Given the description of an element on the screen output the (x, y) to click on. 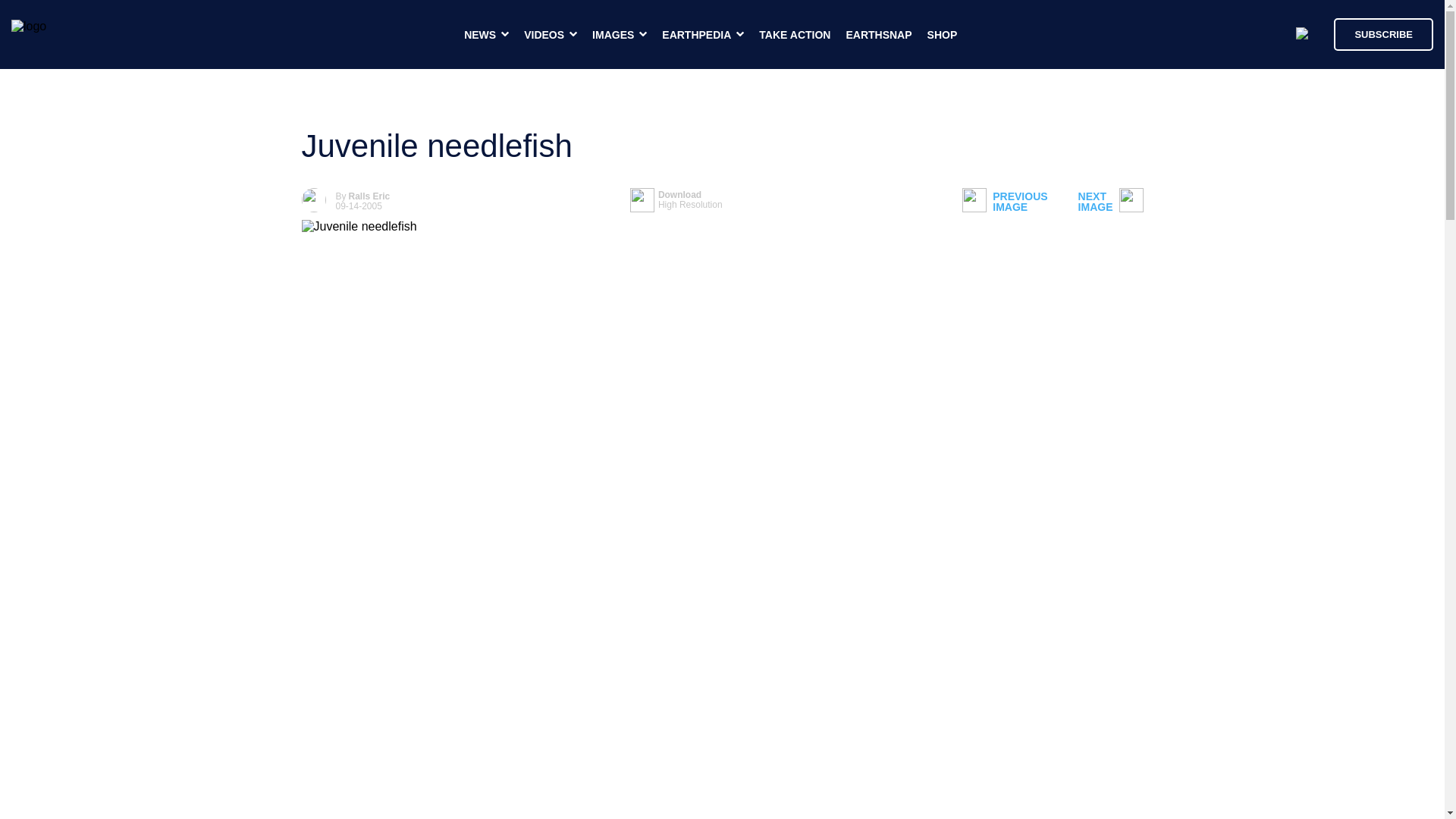
SUBSCRIBE (1110, 201)
SHOP (1382, 34)
Ralls Eric (942, 34)
TAKE ACTION (369, 195)
EARTHSNAP (676, 200)
